Given the description of an element on the screen output the (x, y) to click on. 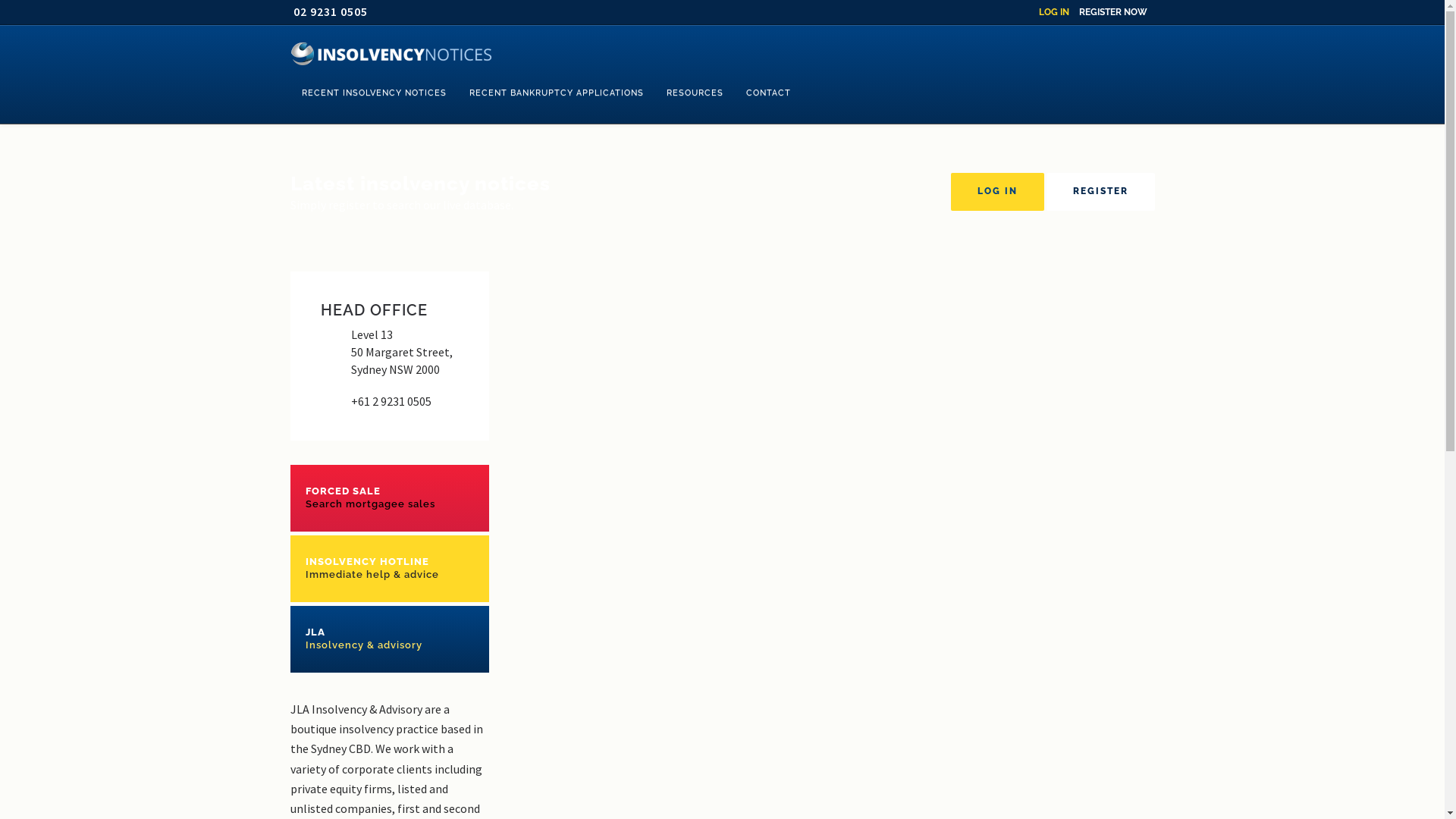
REGISTER NOW Element type: text (1112, 11)
LOG IN Element type: text (1053, 11)
RECENT INSOLVENCY NOTICES Element type: text (373, 92)
FORCED SALE  
Search mortgagee sales Element type: text (389, 497)
REGISTER Element type: text (1100, 191)
RECENT BANKRUPTCY APPLICATIONS Element type: text (556, 92)
LOG IN Element type: text (997, 191)
JLA  
Insolvency & advisory Element type: text (389, 638)
RESOURCES Element type: text (694, 92)
CONTACT Element type: text (767, 92)
INSOLVENCY HOTLINE  
Immediate help & advice Element type: text (389, 568)
